Given the description of an element on the screen output the (x, y) to click on. 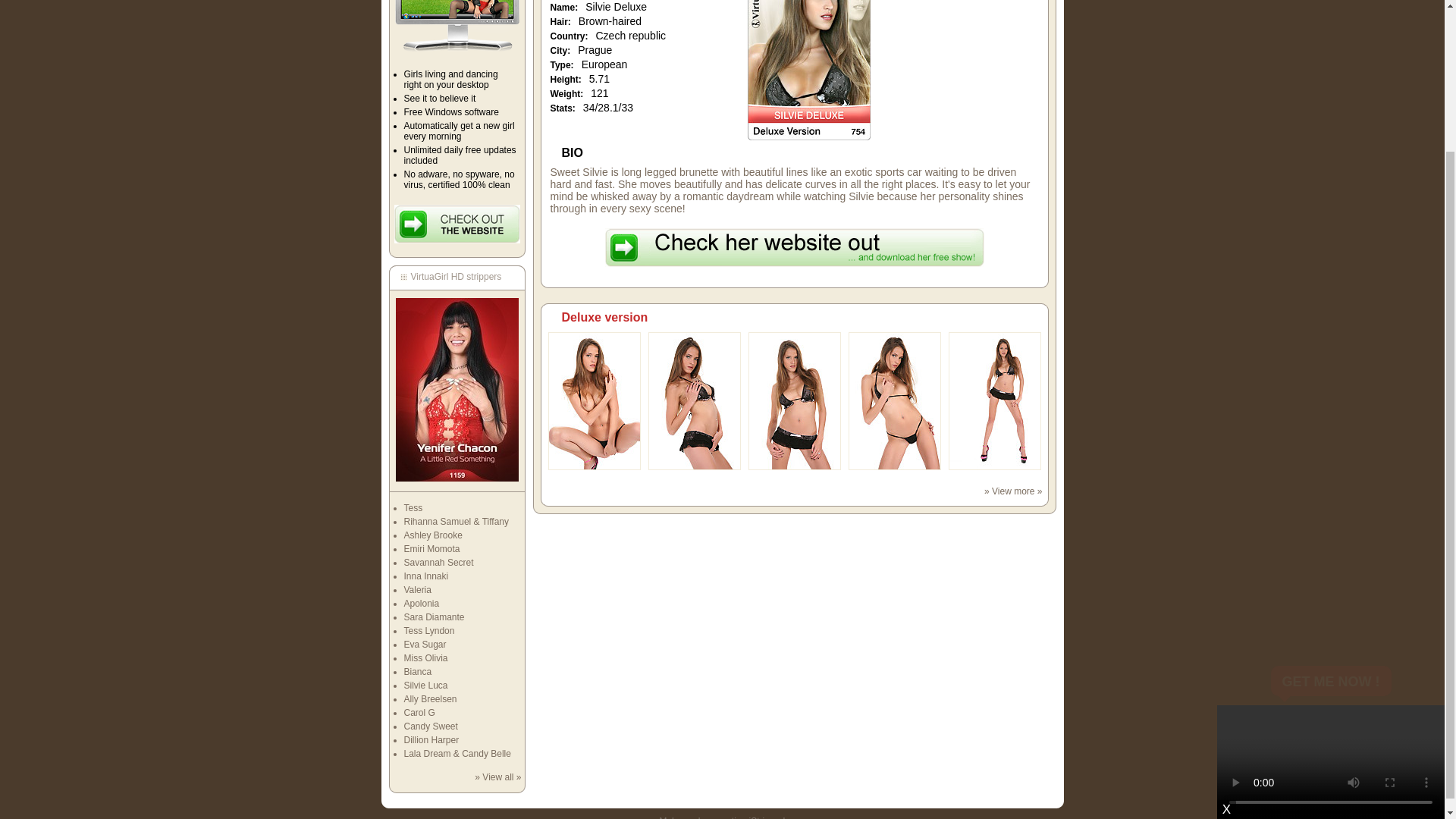
Silvie Deluxe - Deluxe version - 4 (893, 466)
Silvie Deluxe - Deluxe version - 2 (693, 466)
Dillion Harper (430, 739)
Carol G (418, 712)
Ashley Brooke (432, 534)
Silvie Luca (424, 685)
Eva Sugar (424, 644)
Silvie Deluxe - Deluxe version - 5 (994, 466)
Valeria (416, 589)
Sara Diamante (433, 616)
